Given the description of an element on the screen output the (x, y) to click on. 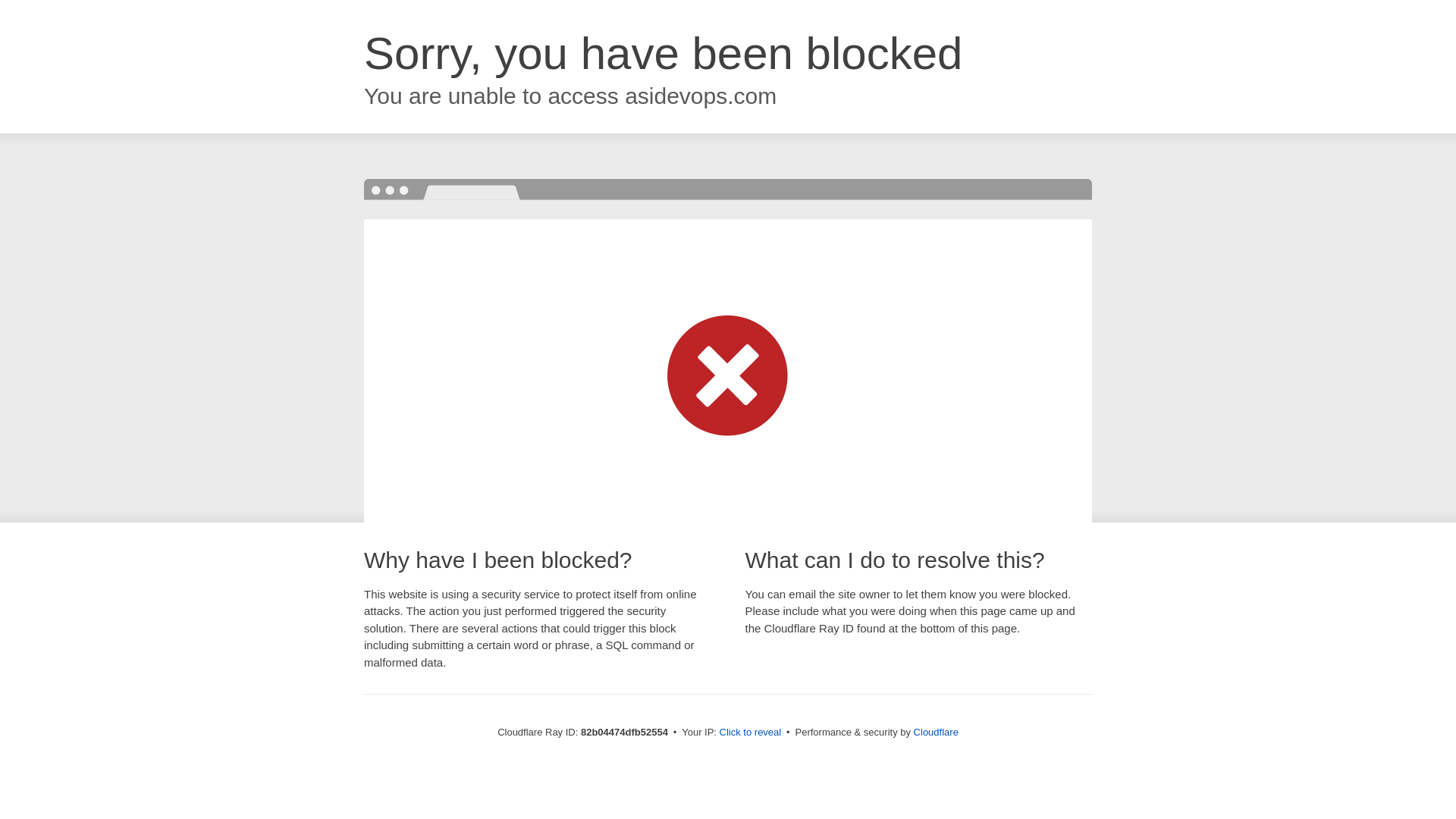
Click to reveal Element type: text (750, 732)
Cloudflare Element type: text (935, 731)
